Given the description of an element on the screen output the (x, y) to click on. 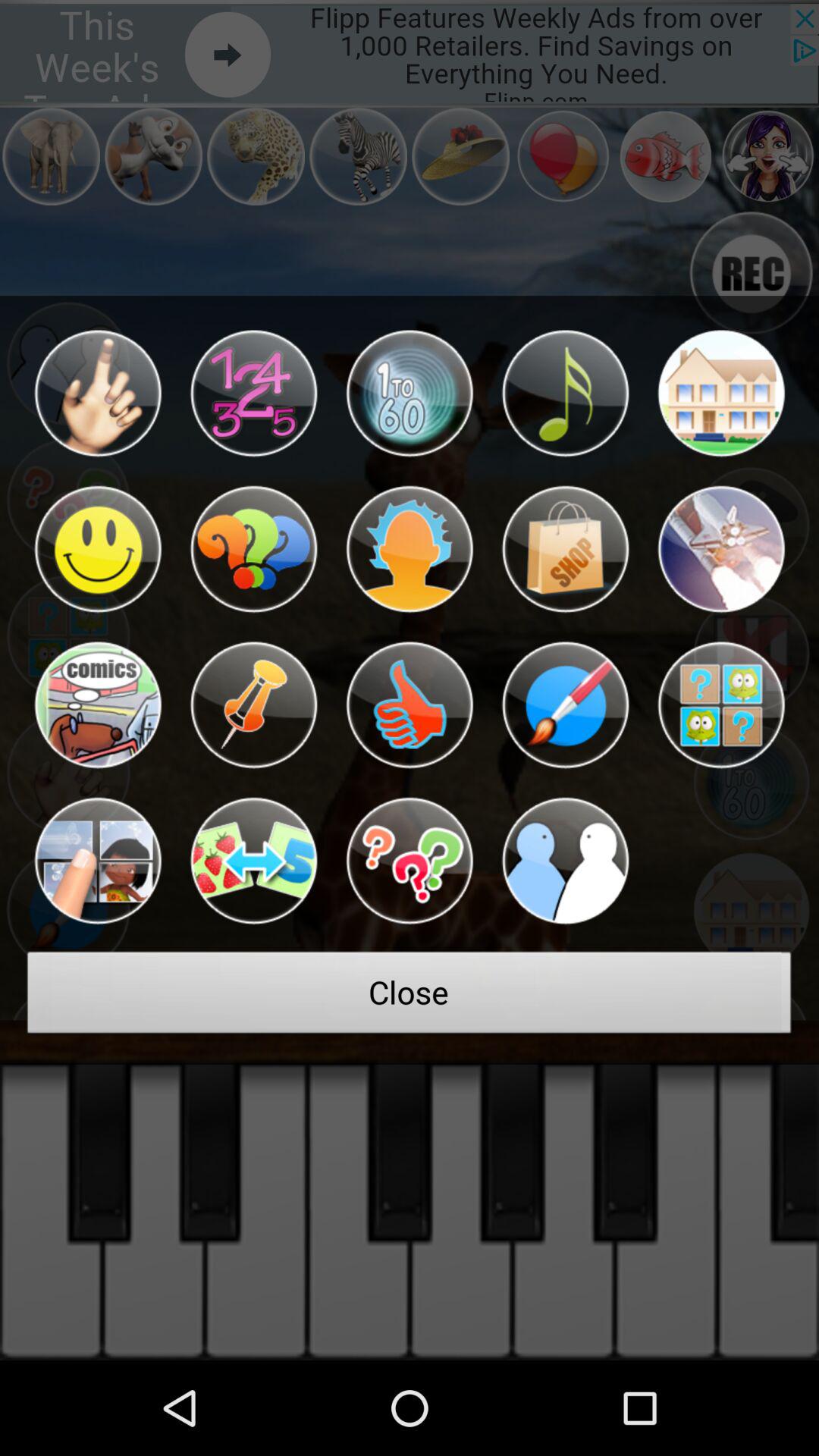
go to playing games (253, 861)
